Given the description of an element on the screen output the (x, y) to click on. 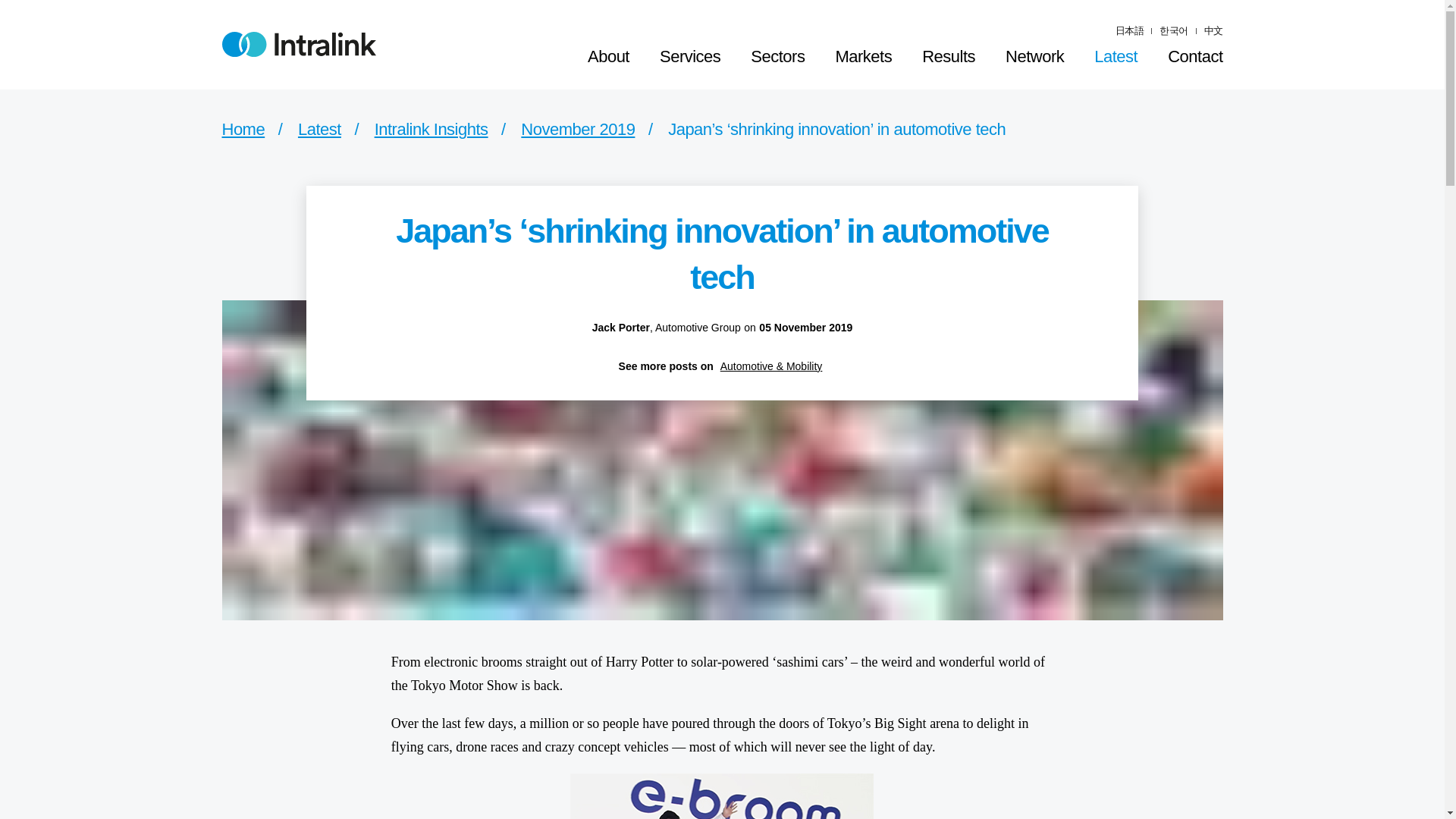
Markets (863, 57)
Results (948, 57)
Sectors (777, 57)
About (608, 57)
Services (690, 57)
